Given the description of an element on the screen output the (x, y) to click on. 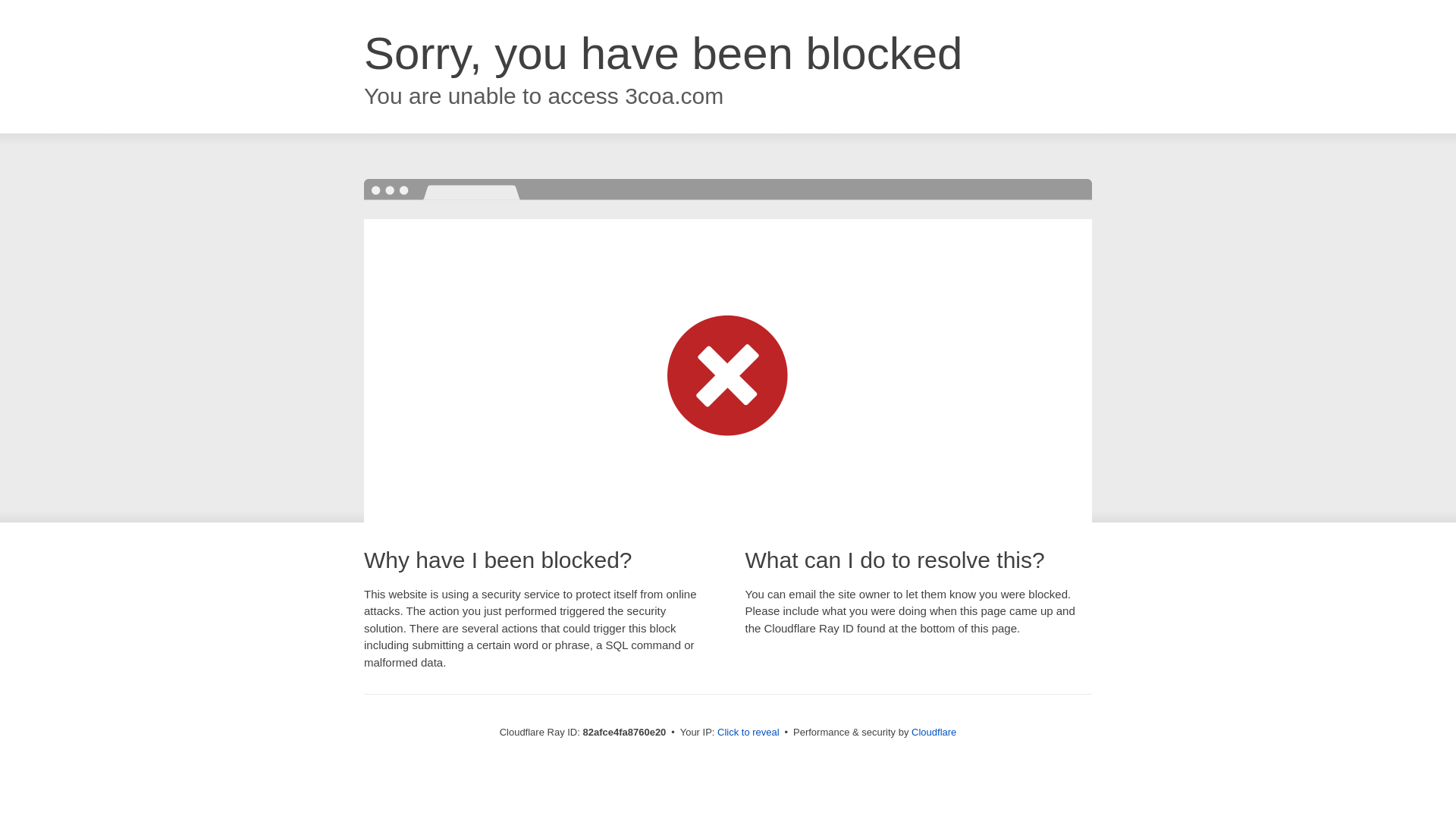
Click to reveal Element type: text (748, 732)
Cloudflare Element type: text (933, 731)
